Given the description of an element on the screen output the (x, y) to click on. 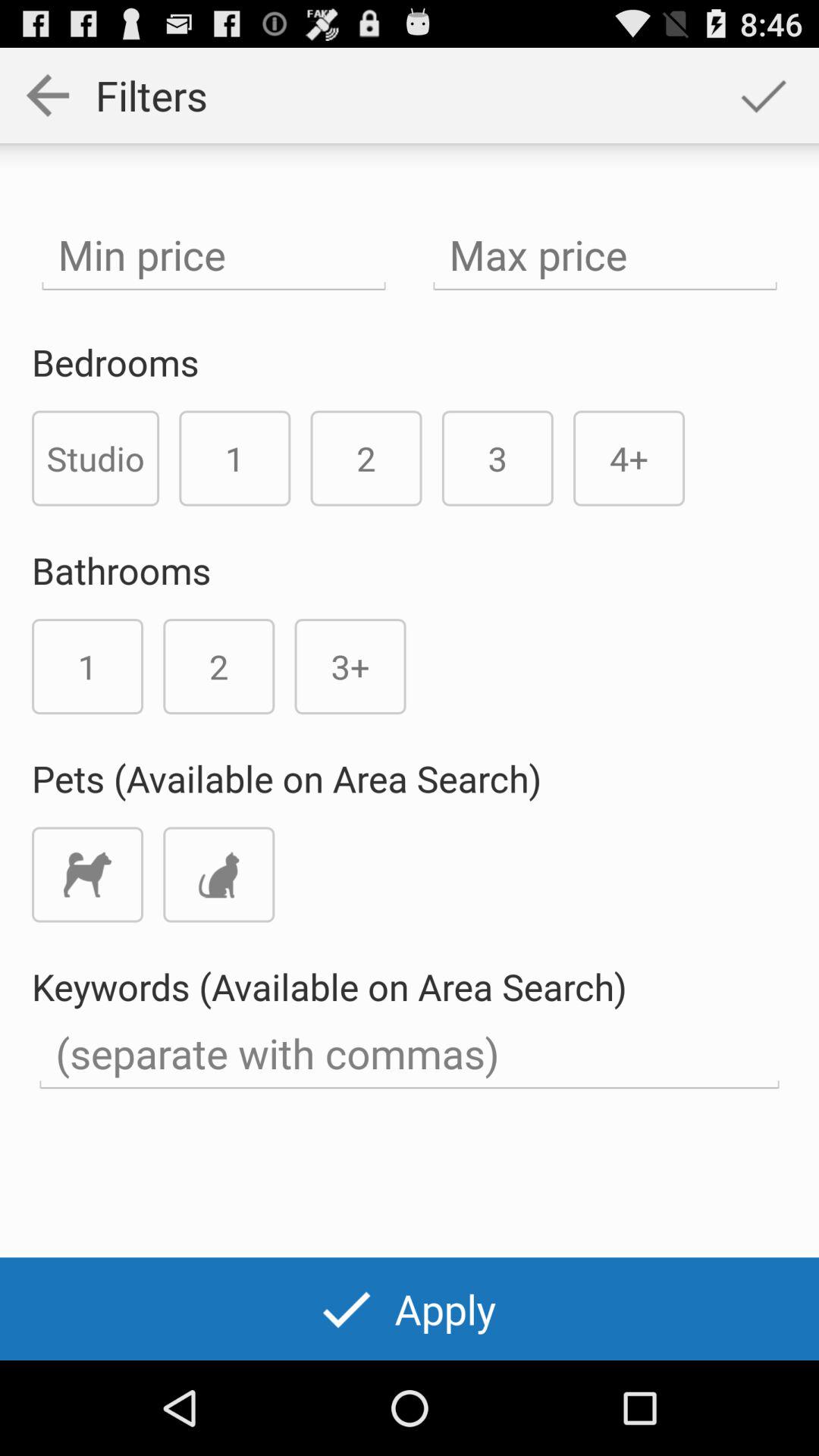
open the item to the right of the 3 icon (628, 458)
